Given the description of an element on the screen output the (x, y) to click on. 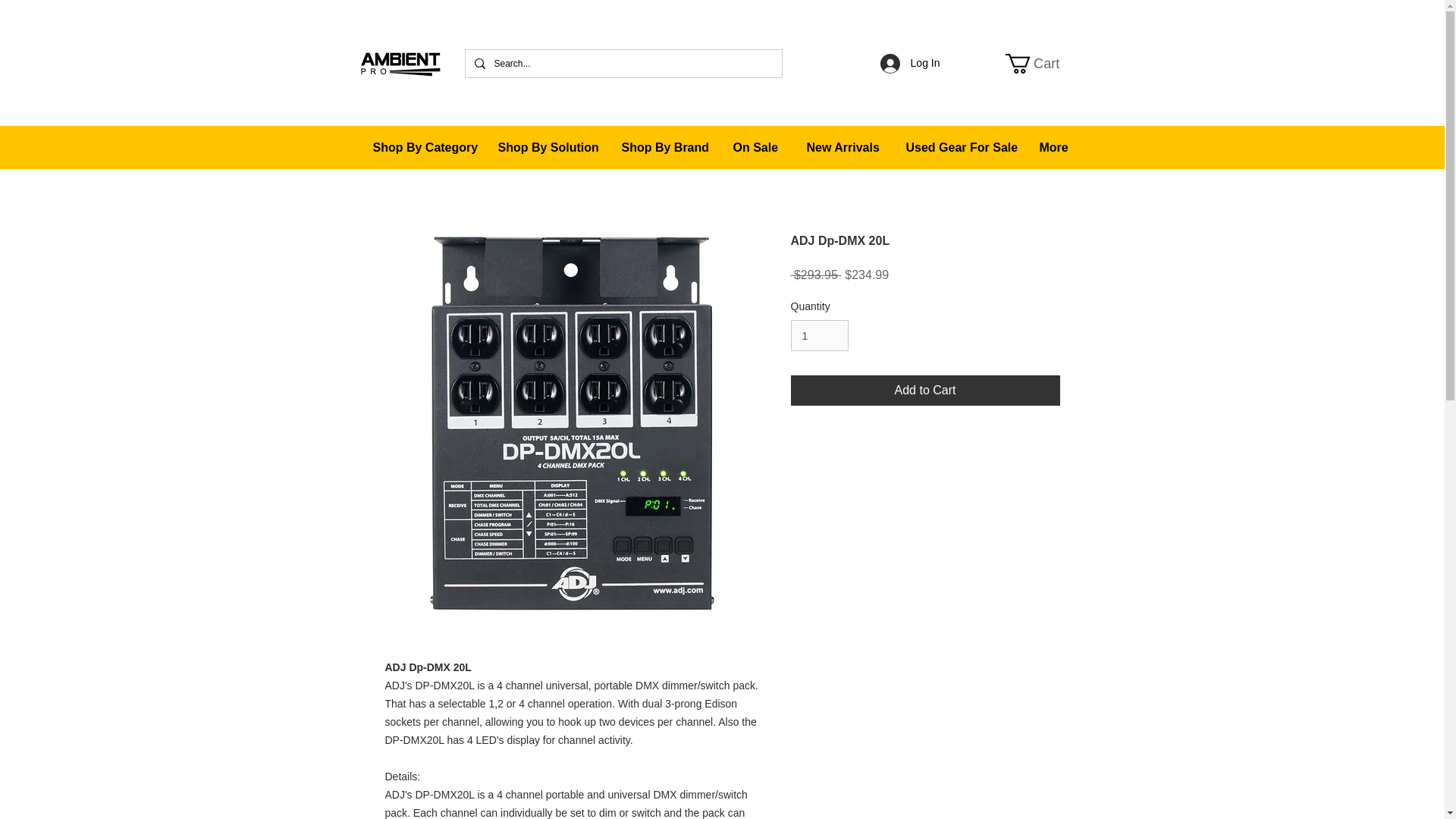
Add to Cart (924, 390)
Shop By Category (423, 147)
1 (818, 335)
ambient pro LOGO copy Black TINY.png (1043, 63)
Log In (1043, 63)
